Given the description of an element on the screen output the (x, y) to click on. 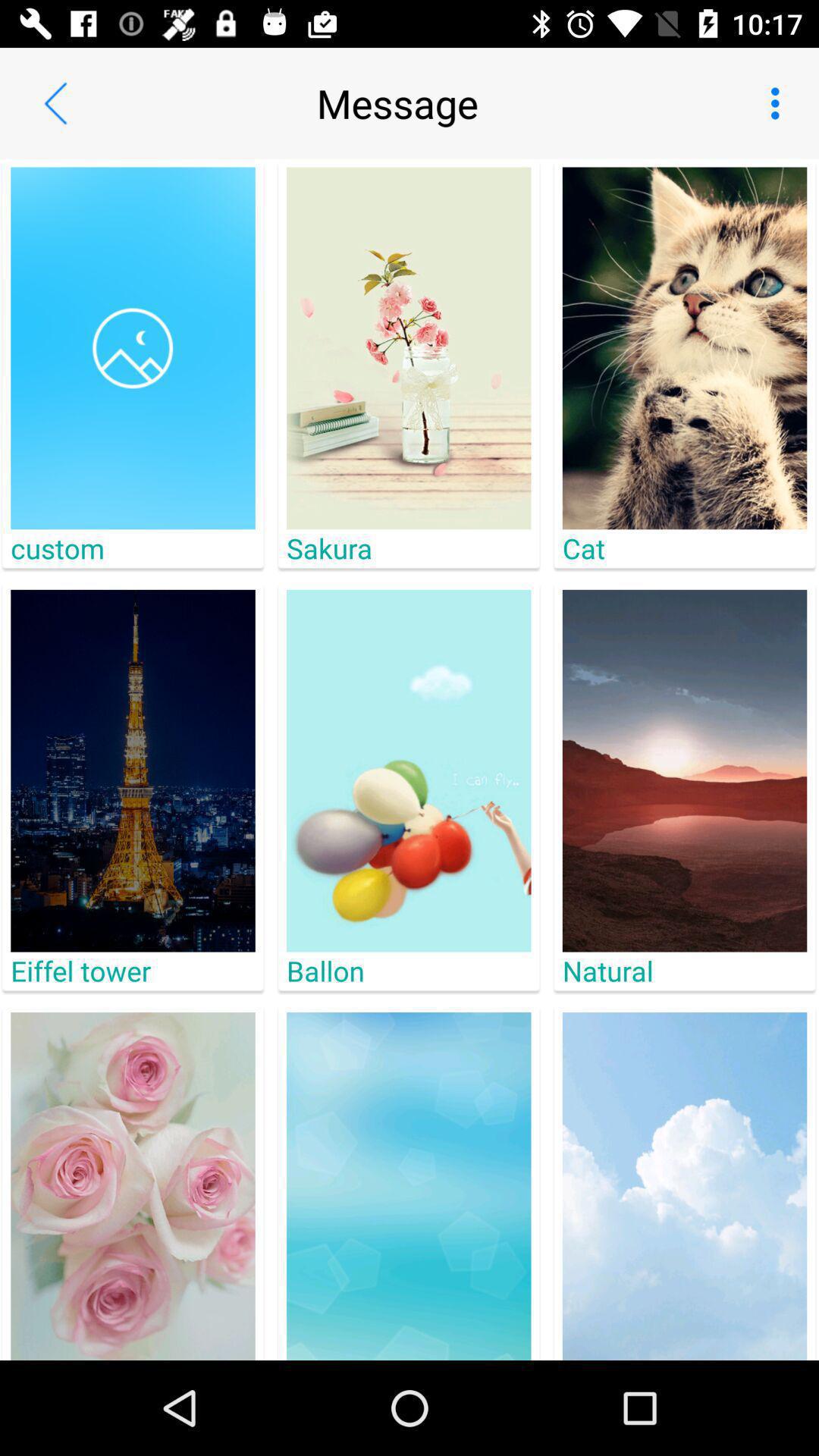
choose app next to message app (779, 103)
